Given the description of an element on the screen output the (x, y) to click on. 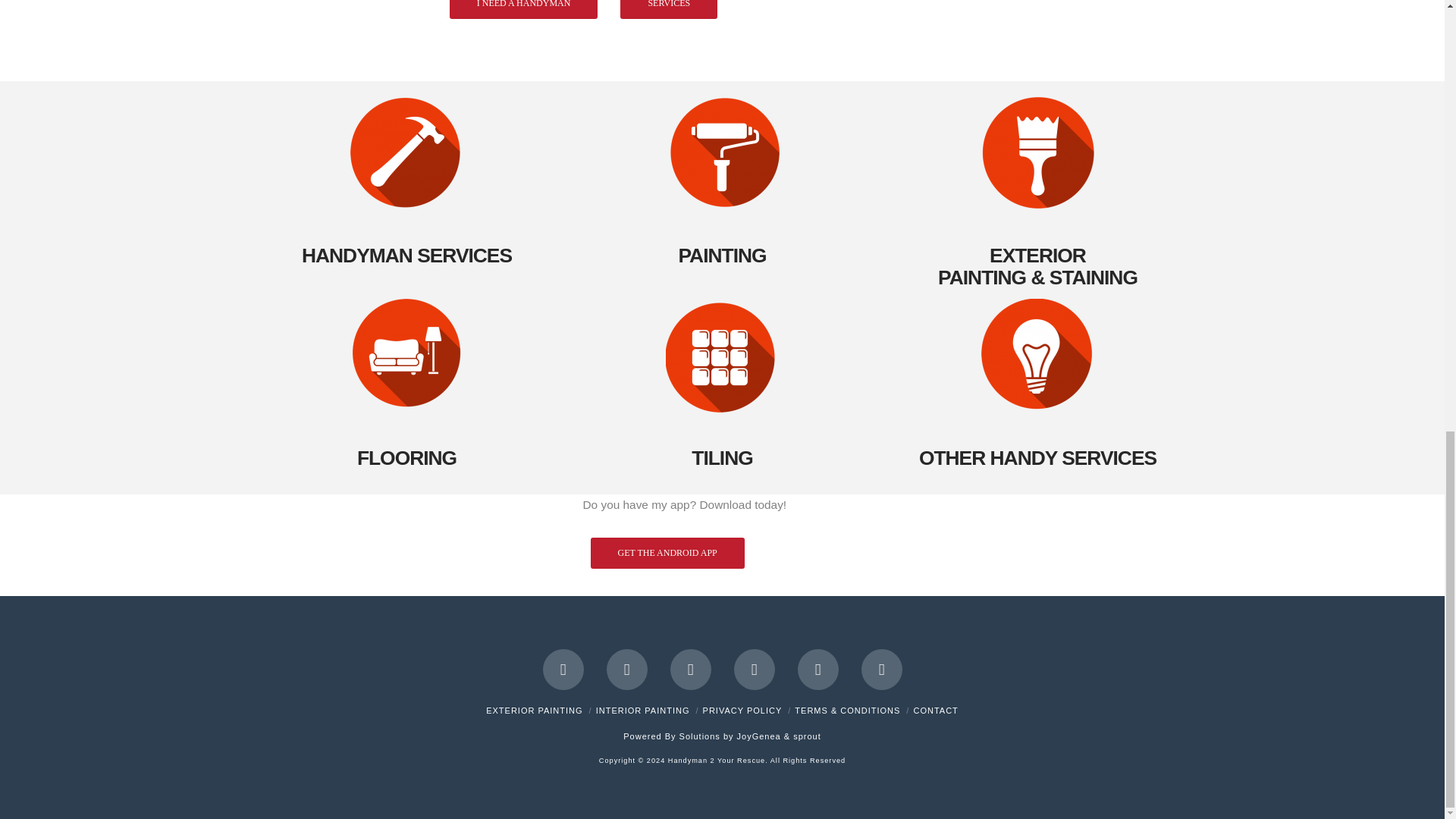
SERVICES (668, 9)
Facebook (563, 669)
Instagram (817, 669)
Twitter (627, 669)
YouTube (753, 669)
Pinterest (881, 669)
I NEED A HANDYMAN (523, 9)
LinkedIn (690, 669)
